Given the description of an element on the screen output the (x, y) to click on. 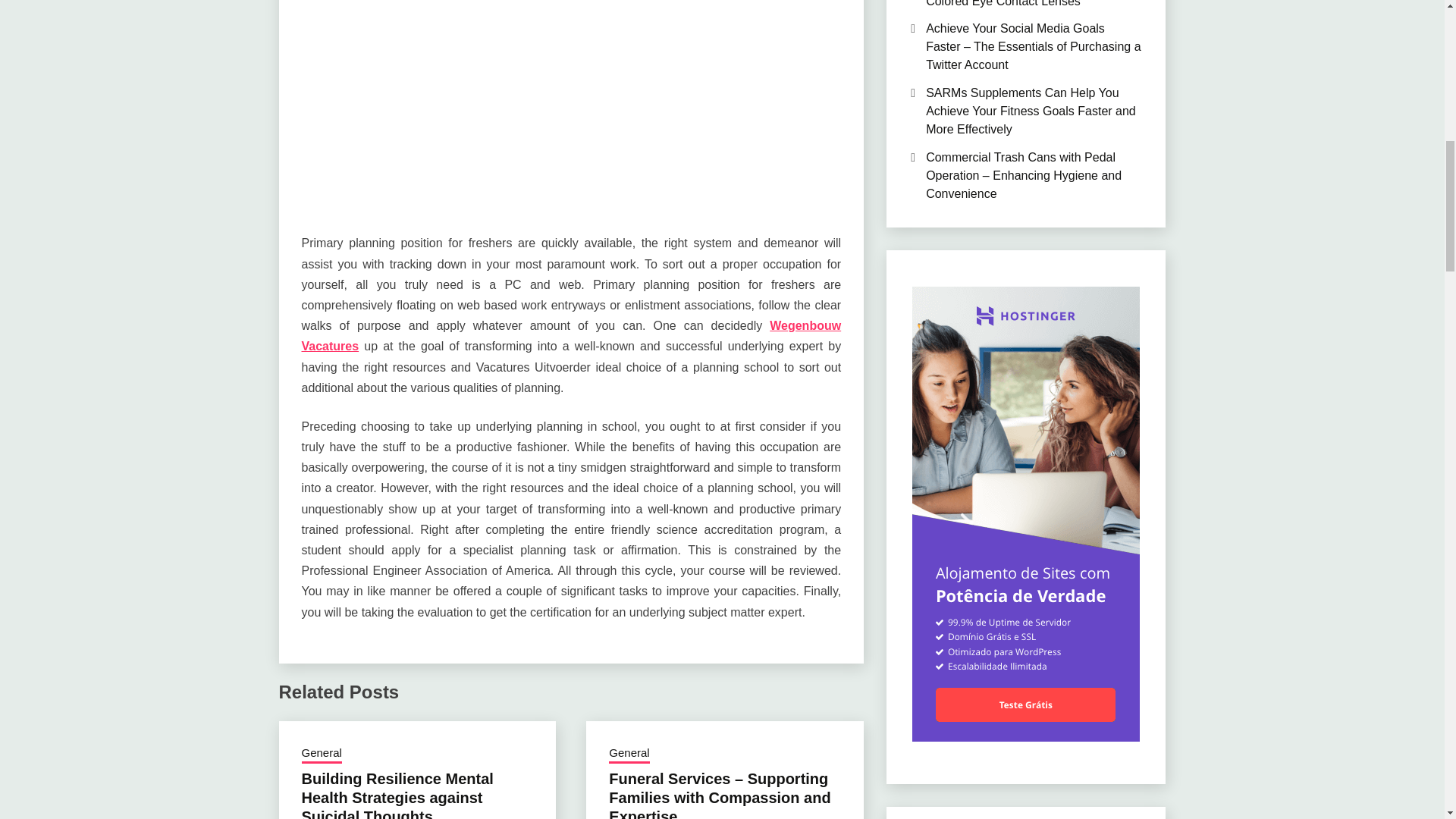
General (628, 754)
Wegenbouw Vacatures (571, 335)
General (321, 754)
